Given the description of an element on the screen output the (x, y) to click on. 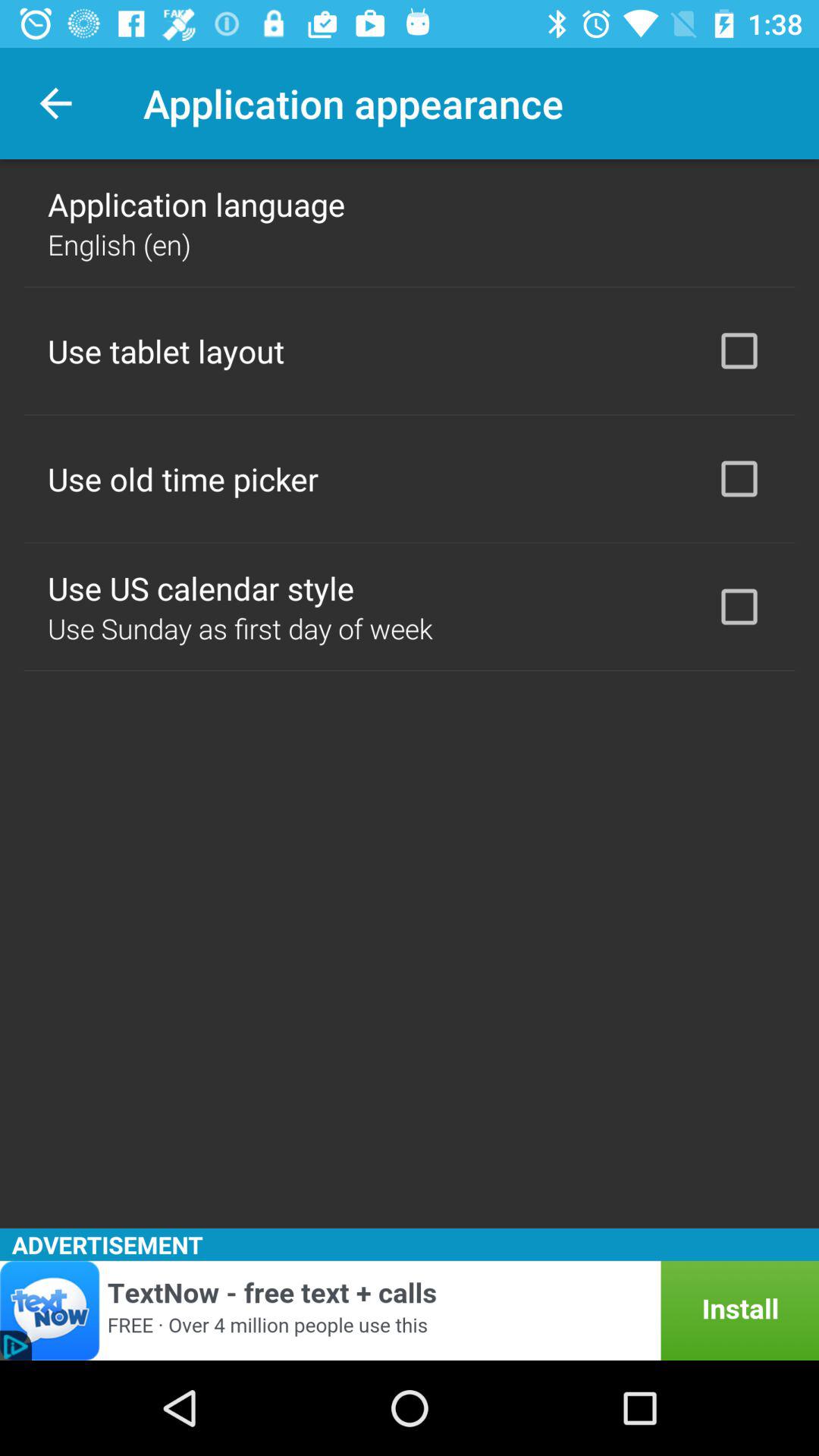
choose the item below advertisement icon (409, 1310)
